Given the description of an element on the screen output the (x, y) to click on. 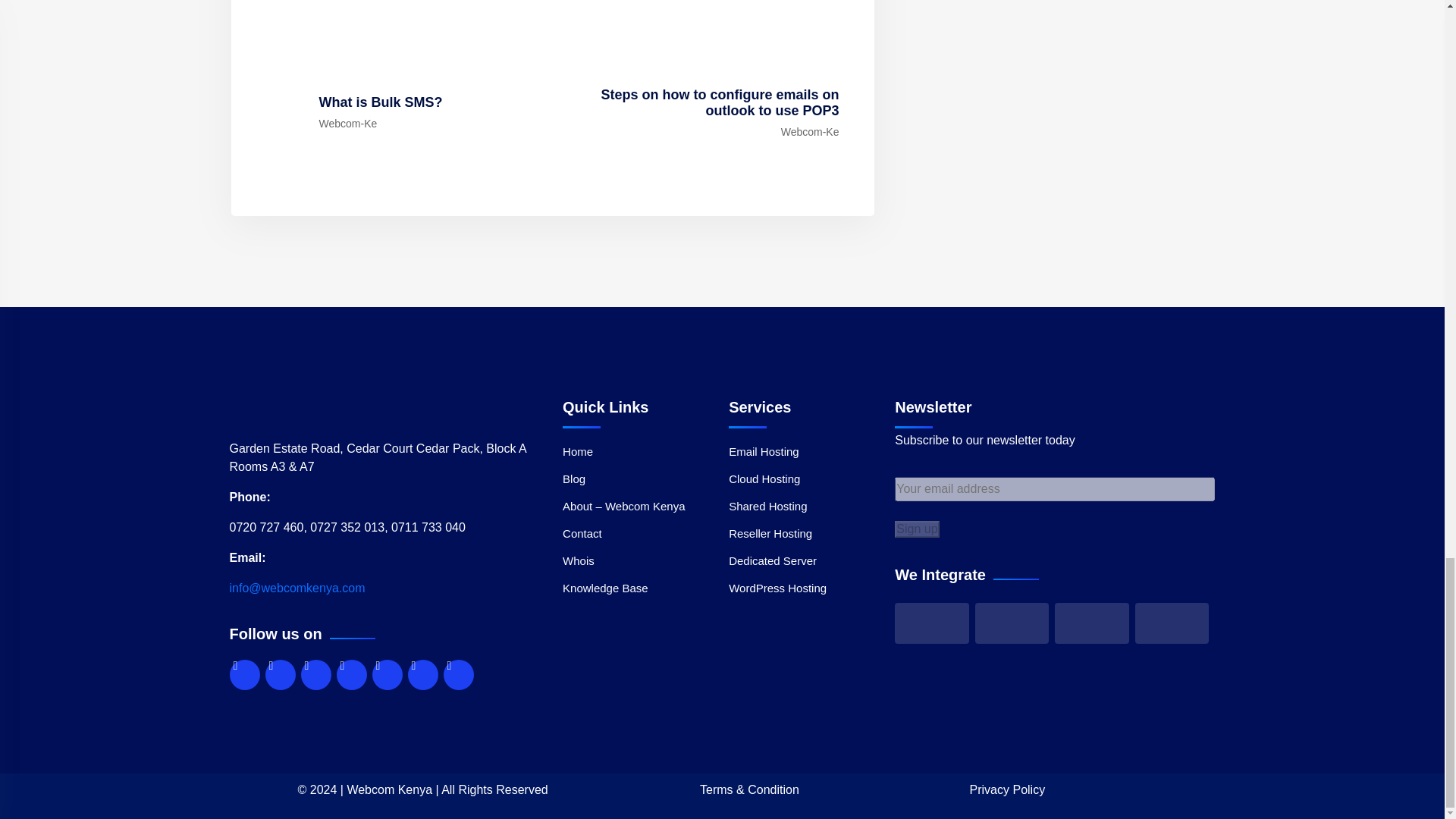
Sign up (917, 528)
